Given the description of an element on the screen output the (x, y) to click on. 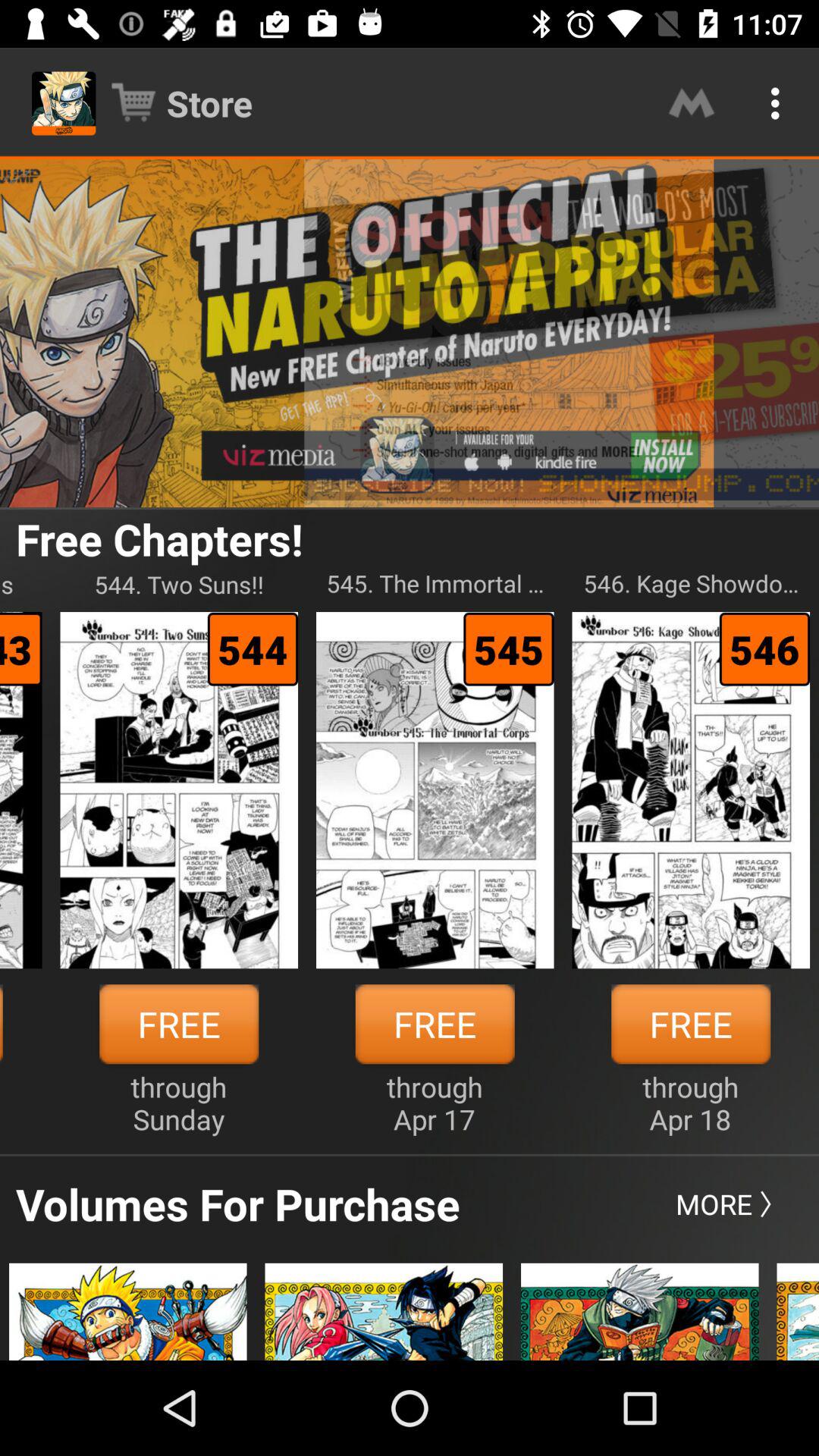
turn off the volumes for purchase (237, 1203)
